Given the description of an element on the screen output the (x, y) to click on. 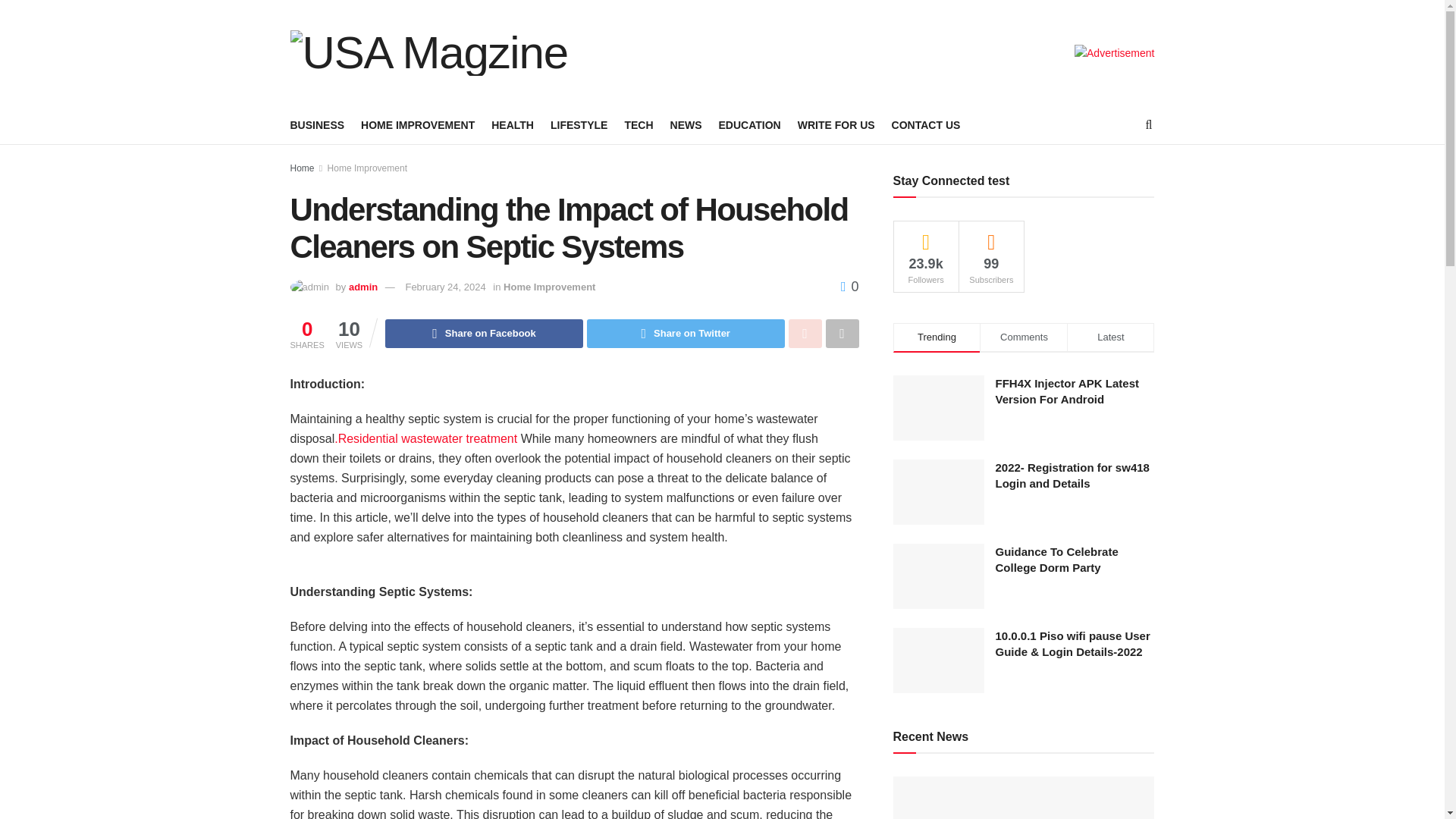
BUSINESS (316, 124)
HOME IMPROVEMENT (417, 124)
